Given the description of an element on the screen output the (x, y) to click on. 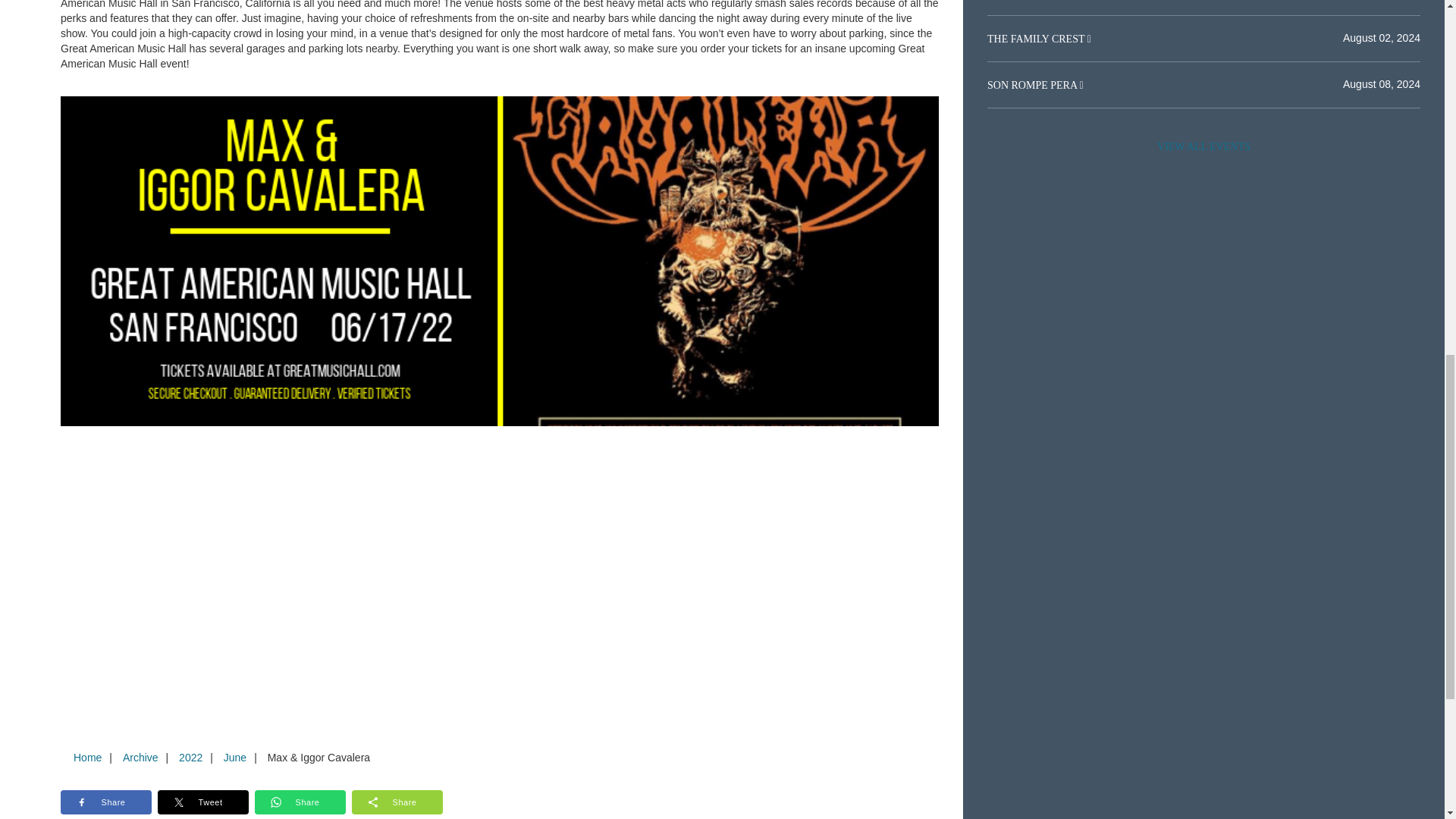
Archive (140, 757)
June (234, 757)
2022 (190, 757)
Home (87, 757)
VIEW ALL EVENTS (1203, 146)
